Given the description of an element on the screen output the (x, y) to click on. 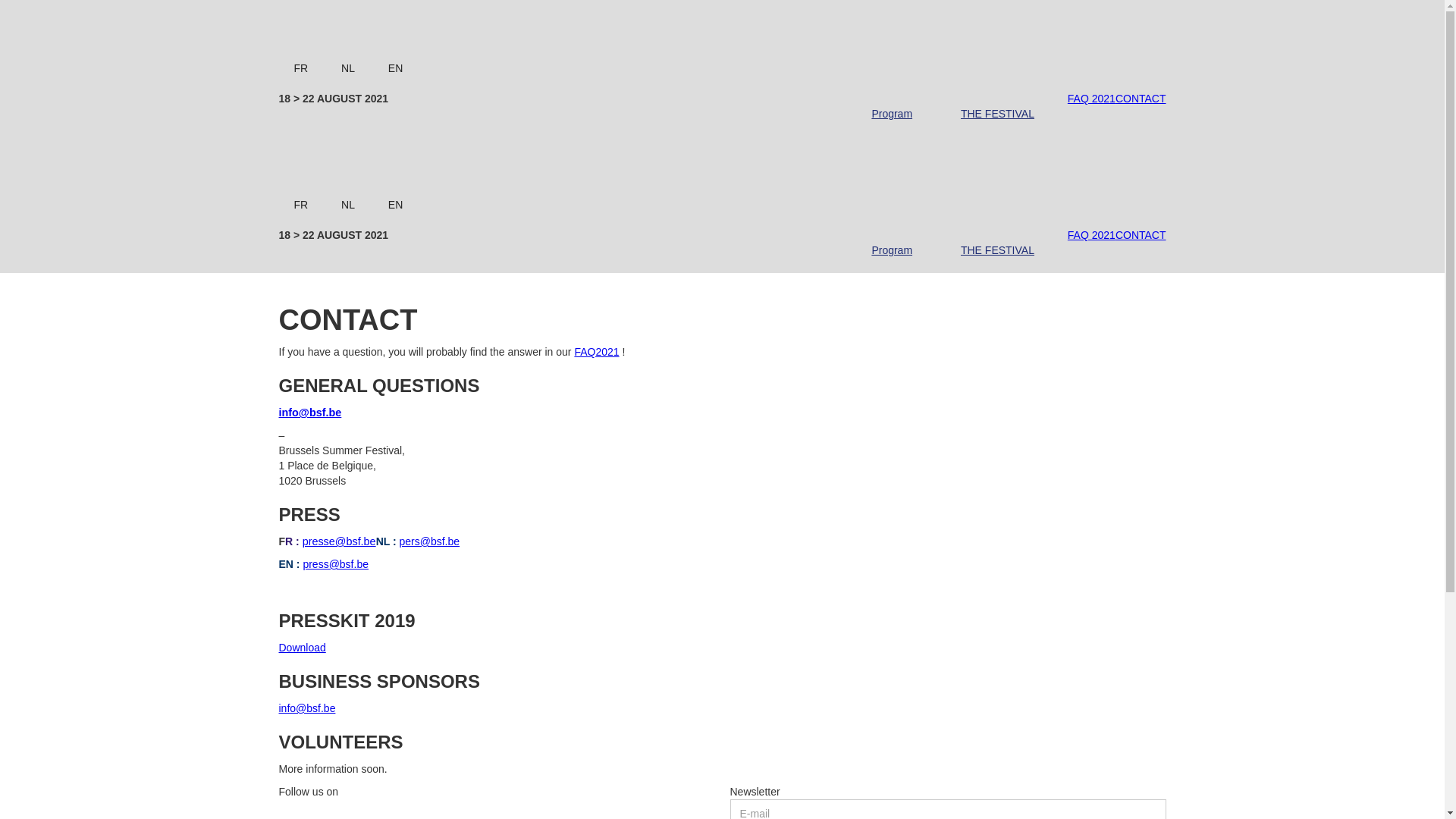
FAQ 2021 Element type: text (1091, 234)
FR Element type: text (301, 68)
CONTACT Element type: text (1140, 98)
EN Element type: text (395, 204)
Program Element type: text (891, 113)
EN Element type: text (395, 68)
FR Element type: text (301, 204)
info@bsf.be Element type: text (310, 412)
NL Element type: text (348, 68)
THE FESTIVAL Element type: text (997, 113)
pers@bsf.be Element type: text (428, 541)
Program Element type: text (891, 250)
FAQ 2021 Element type: text (1091, 98)
presse@bsf.be Element type: text (339, 541)
CONTACT Element type: text (1140, 234)
FAQ2021 Element type: text (596, 351)
press@bsf.be Element type: text (335, 564)
THE FESTIVAL Element type: text (997, 250)
Download Element type: text (302, 647)
NL Element type: text (348, 204)
info@bsf.be Element type: text (307, 708)
